Given the description of an element on the screen output the (x, y) to click on. 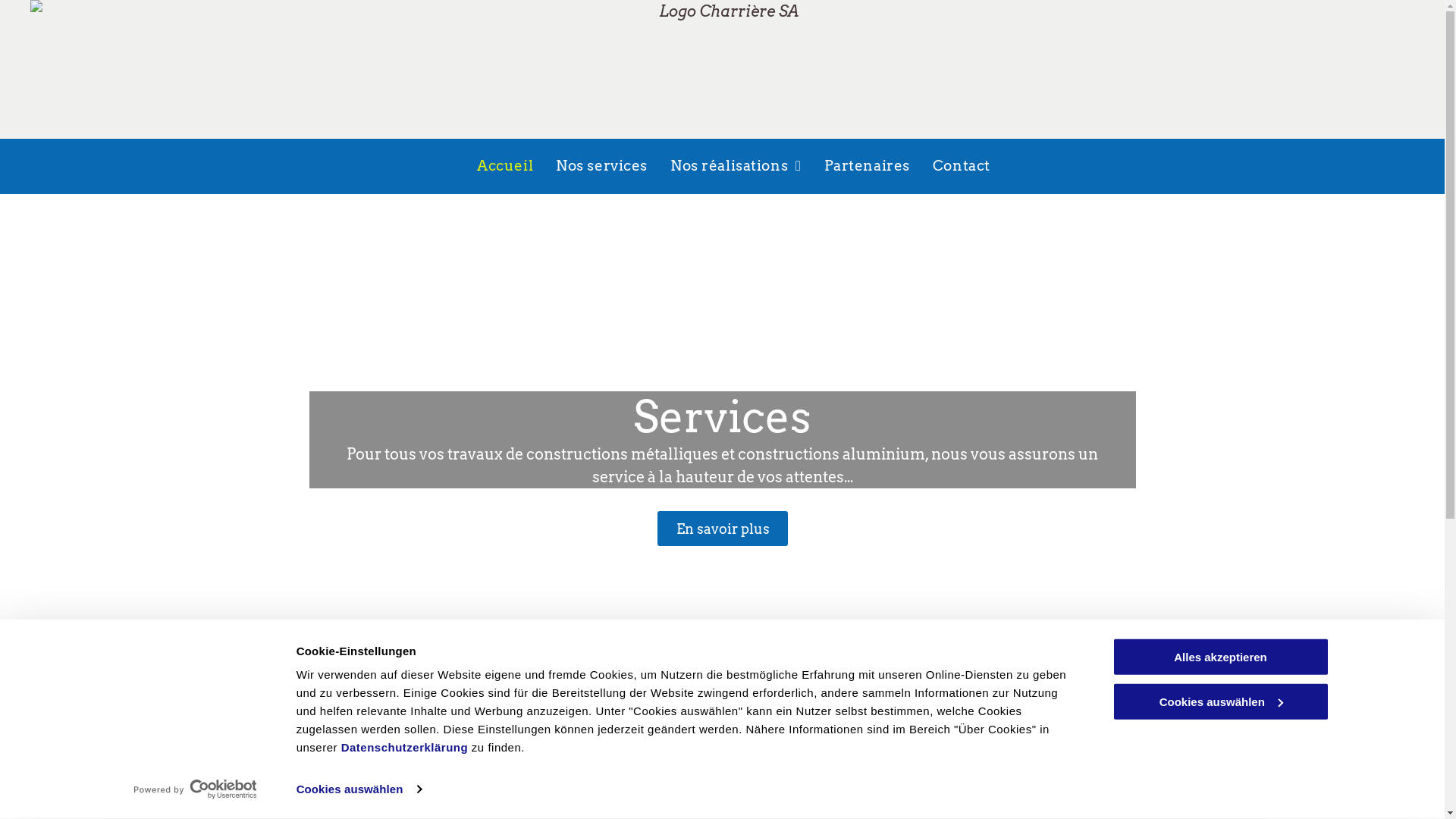
Alles akzeptieren Element type: text (1219, 656)
Contact Element type: text (961, 166)
En savoir plus Element type: text (721, 528)
Partenaires Element type: text (867, 166)
Nos services Element type: text (601, 166)
Accueil Element type: text (504, 166)
